Given the description of an element on the screen output the (x, y) to click on. 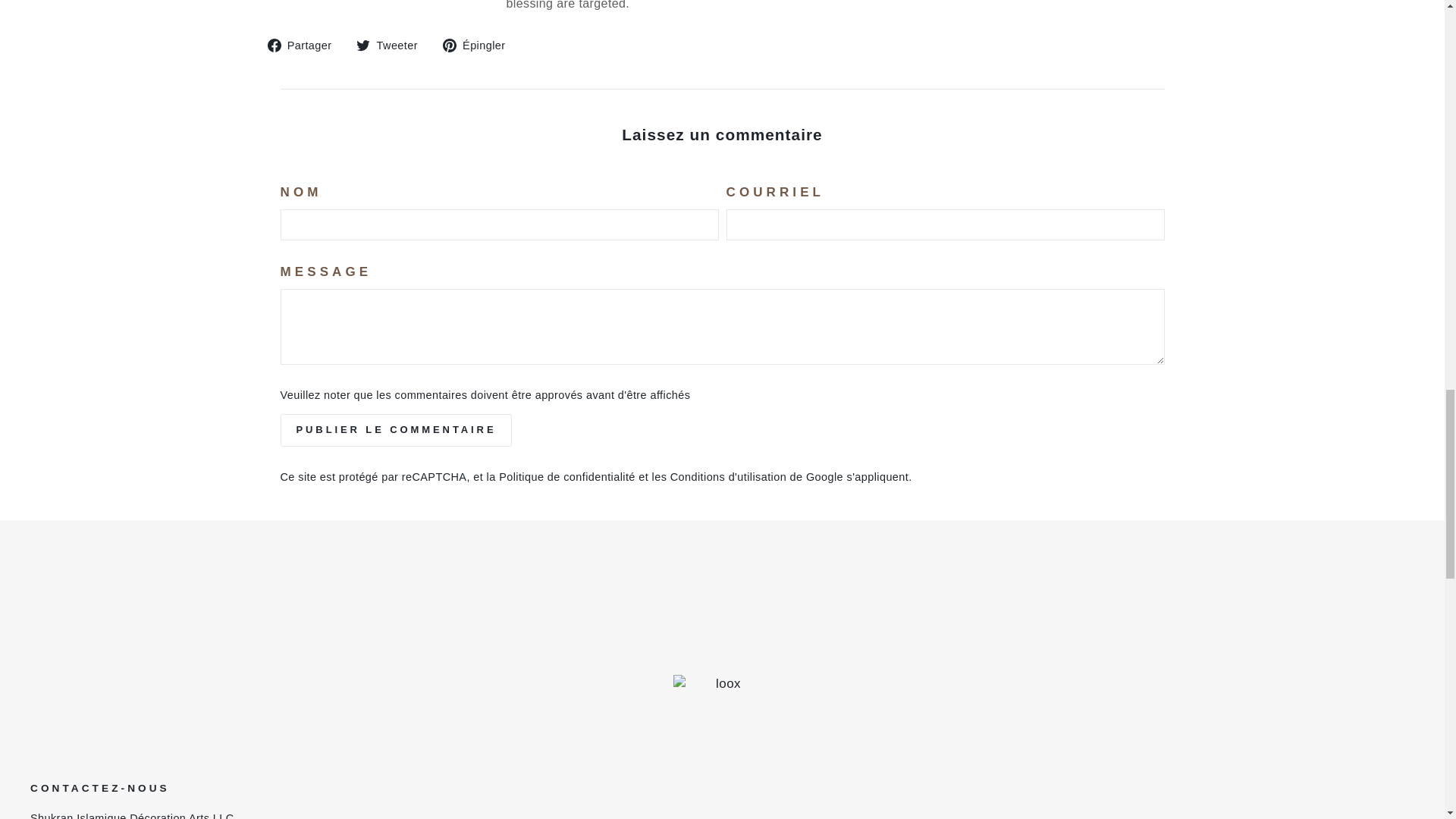
Tweeter sur Twitter (392, 45)
twitter (362, 45)
Partager sur Facebook (304, 45)
